Given the description of an element on the screen output the (x, y) to click on. 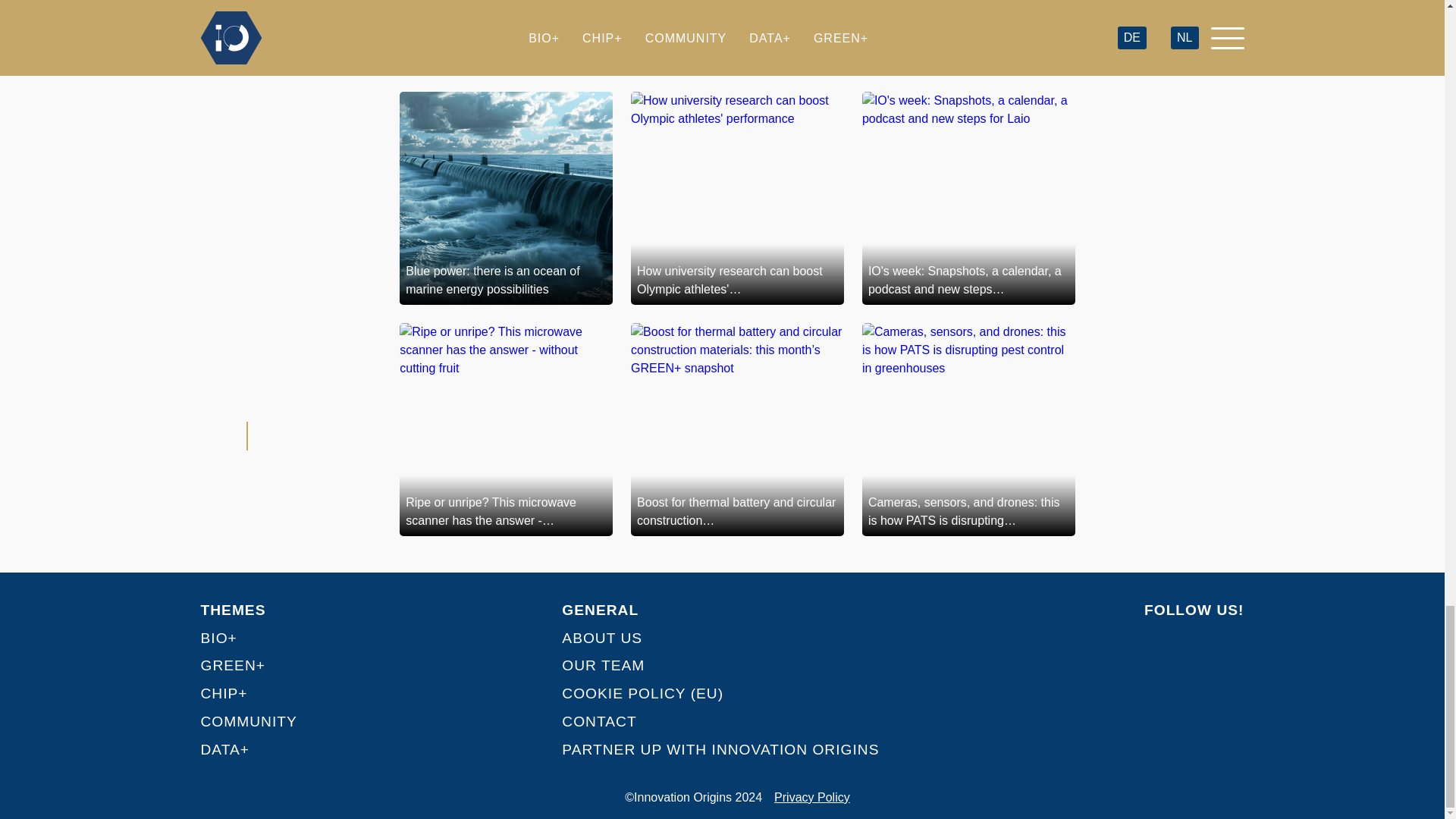
Blue power: there is an ocean of marine energy possibilities (505, 197)
